Given the description of an element on the screen output the (x, y) to click on. 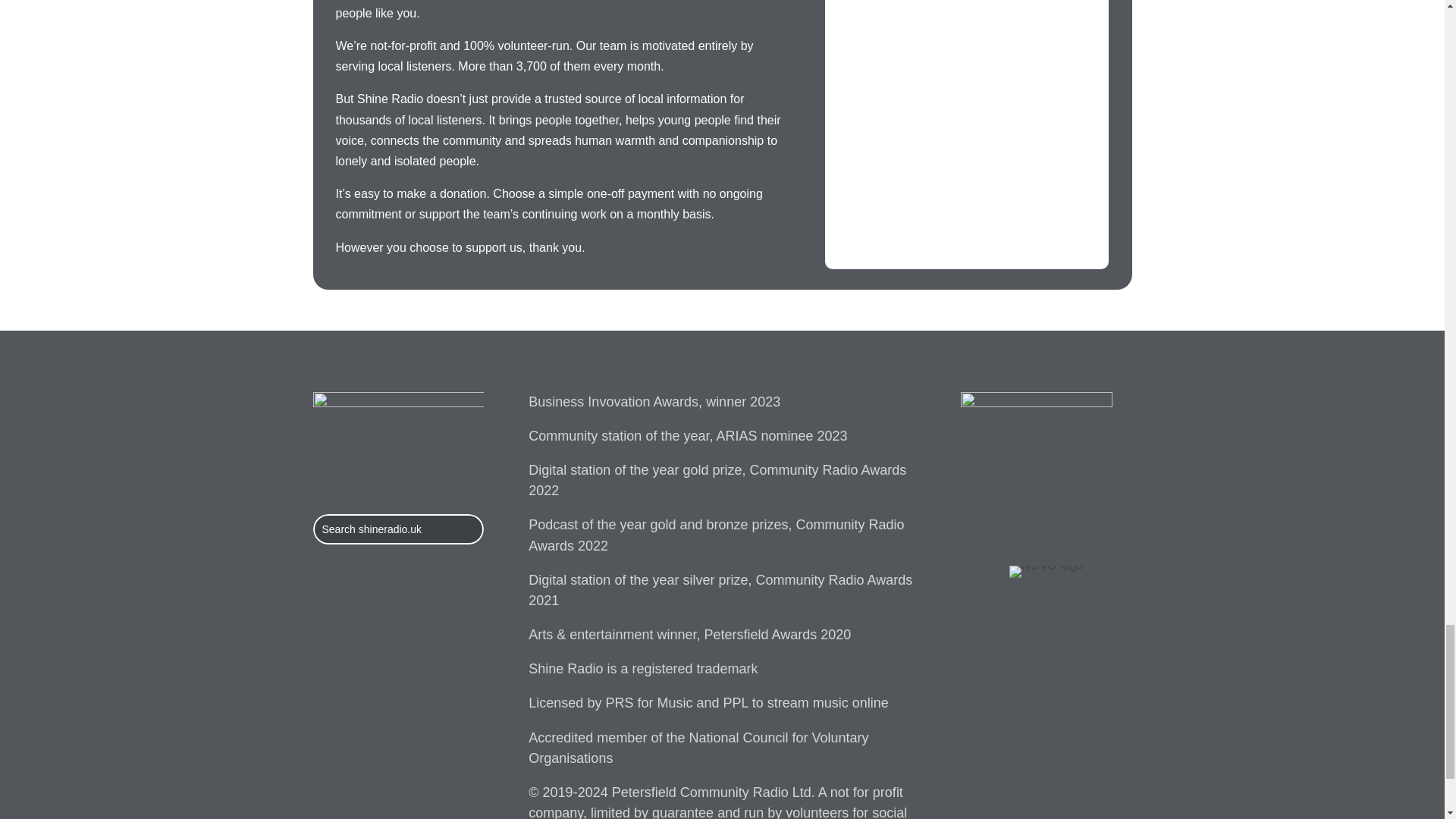
PRS PPL licensing sticker (1036, 467)
NCVO logo with strapline white trans (1046, 571)
Shine Radio logo (398, 442)
